Given the description of an element on the screen output the (x, y) to click on. 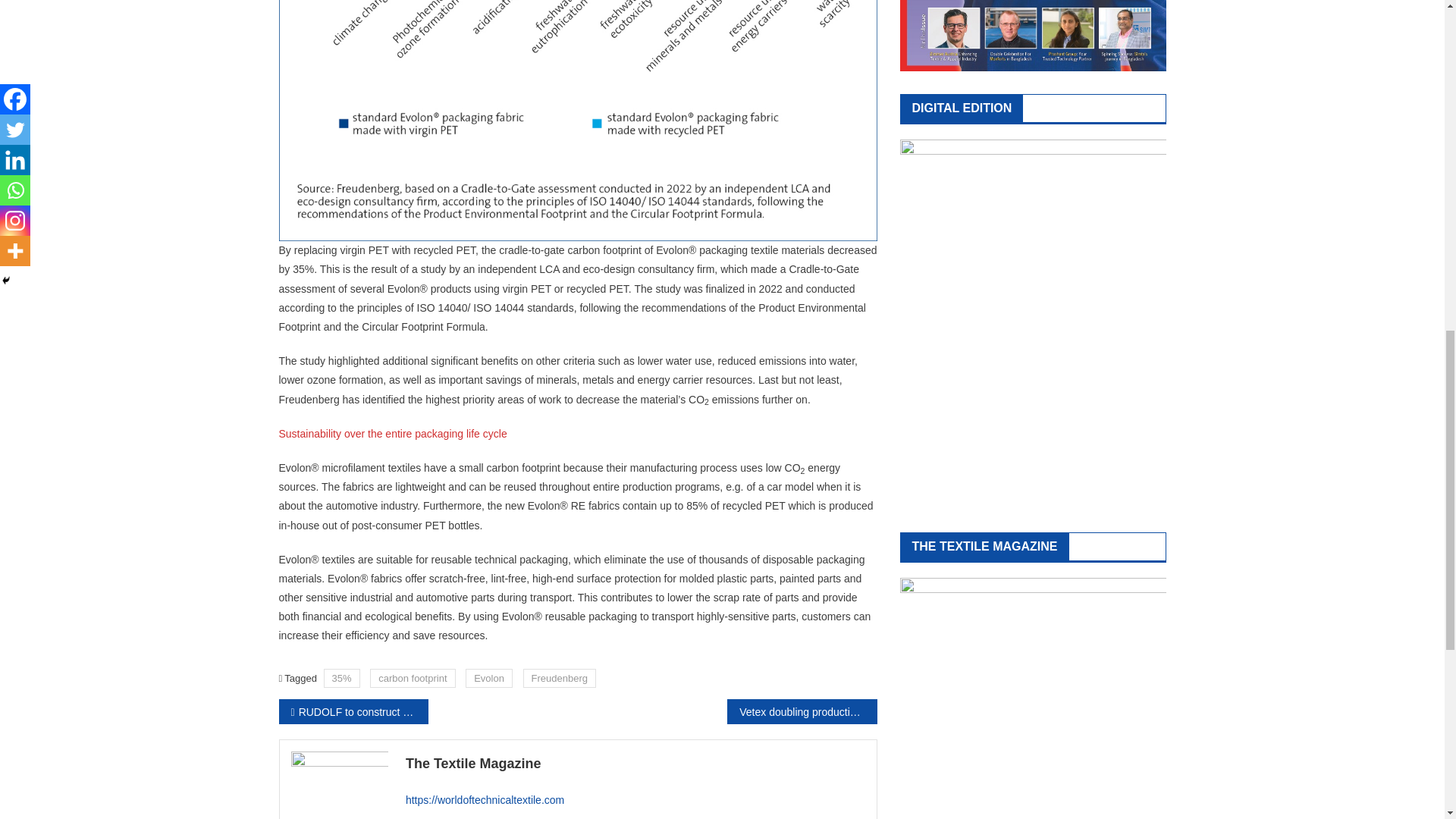
carbon footprint (411, 678)
Freudenberg (558, 678)
Evolon (488, 678)
RUDOLF to construct new facility in Bangladesh (353, 711)
